Given the description of an element on the screen output the (x, y) to click on. 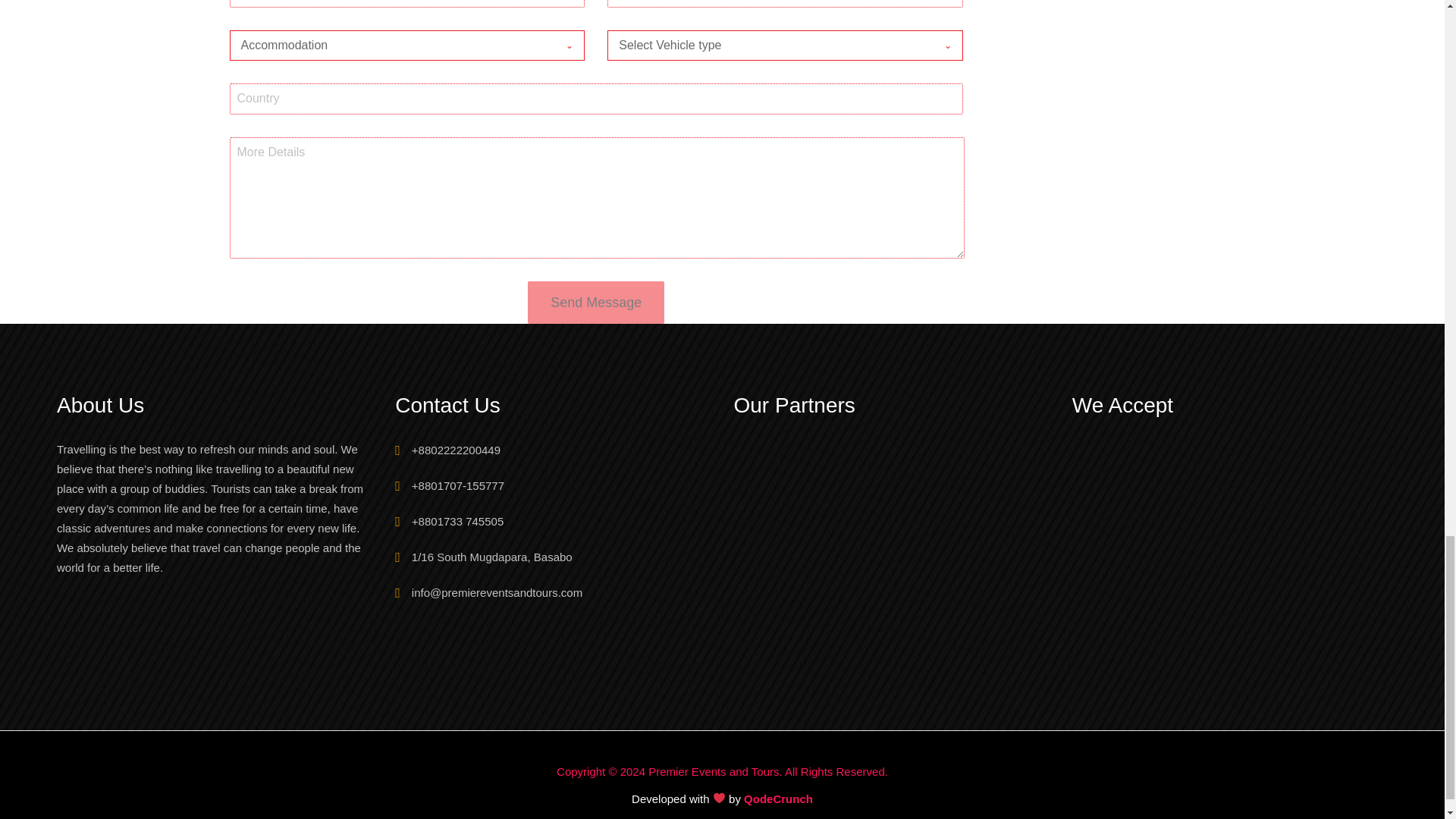
Select Vehicle type (770, 45)
Accommodation (393, 45)
